Given the description of an element on the screen output the (x, y) to click on. 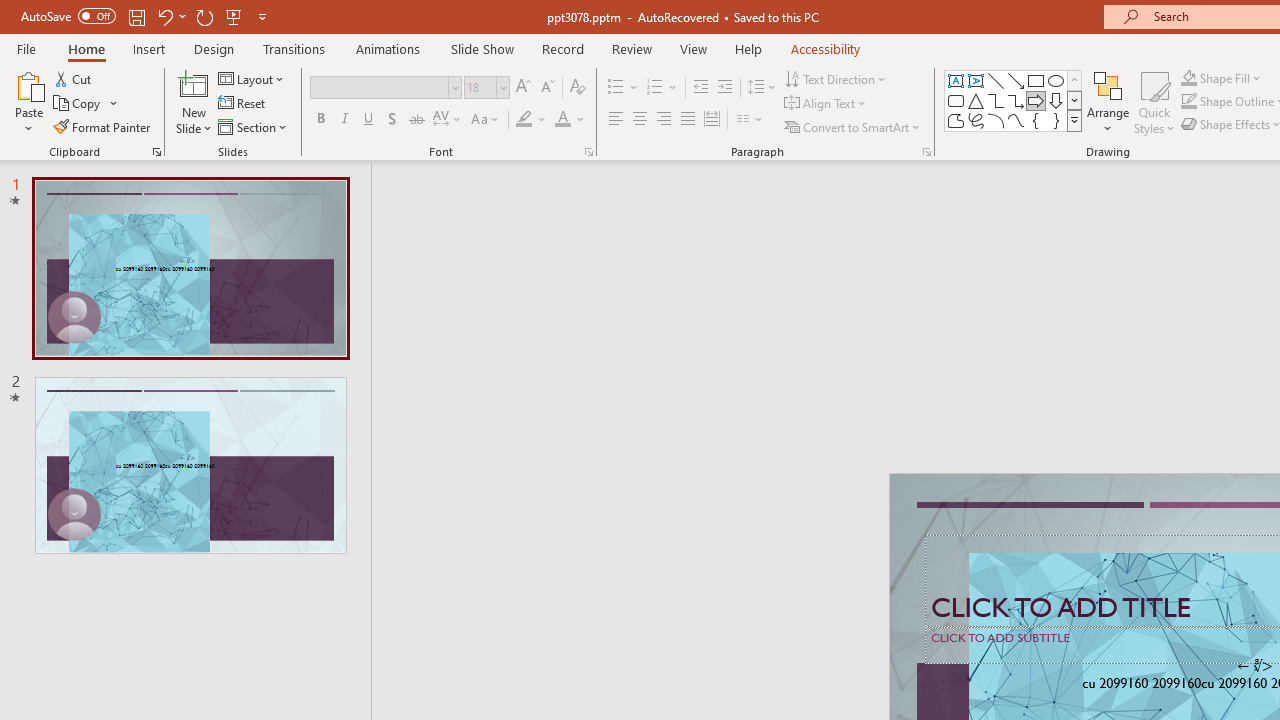
Shape Fill Dark Green, Accent 2 (1188, 78)
Shape Outline Green, Accent 1 (1188, 101)
